Given the description of an element on the screen output the (x, y) to click on. 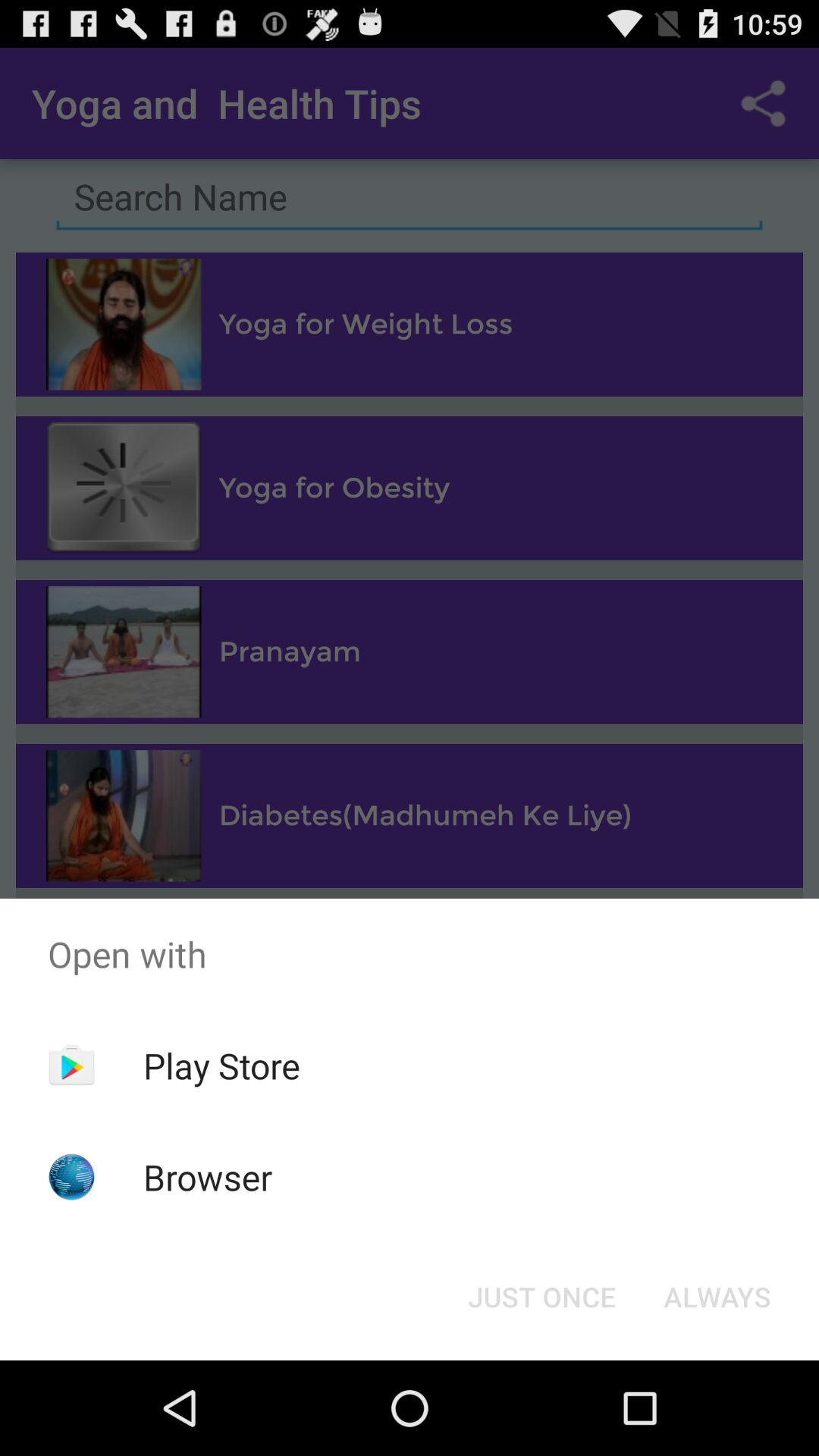
turn on button to the right of just once icon (717, 1296)
